Given the description of an element on the screen output the (x, y) to click on. 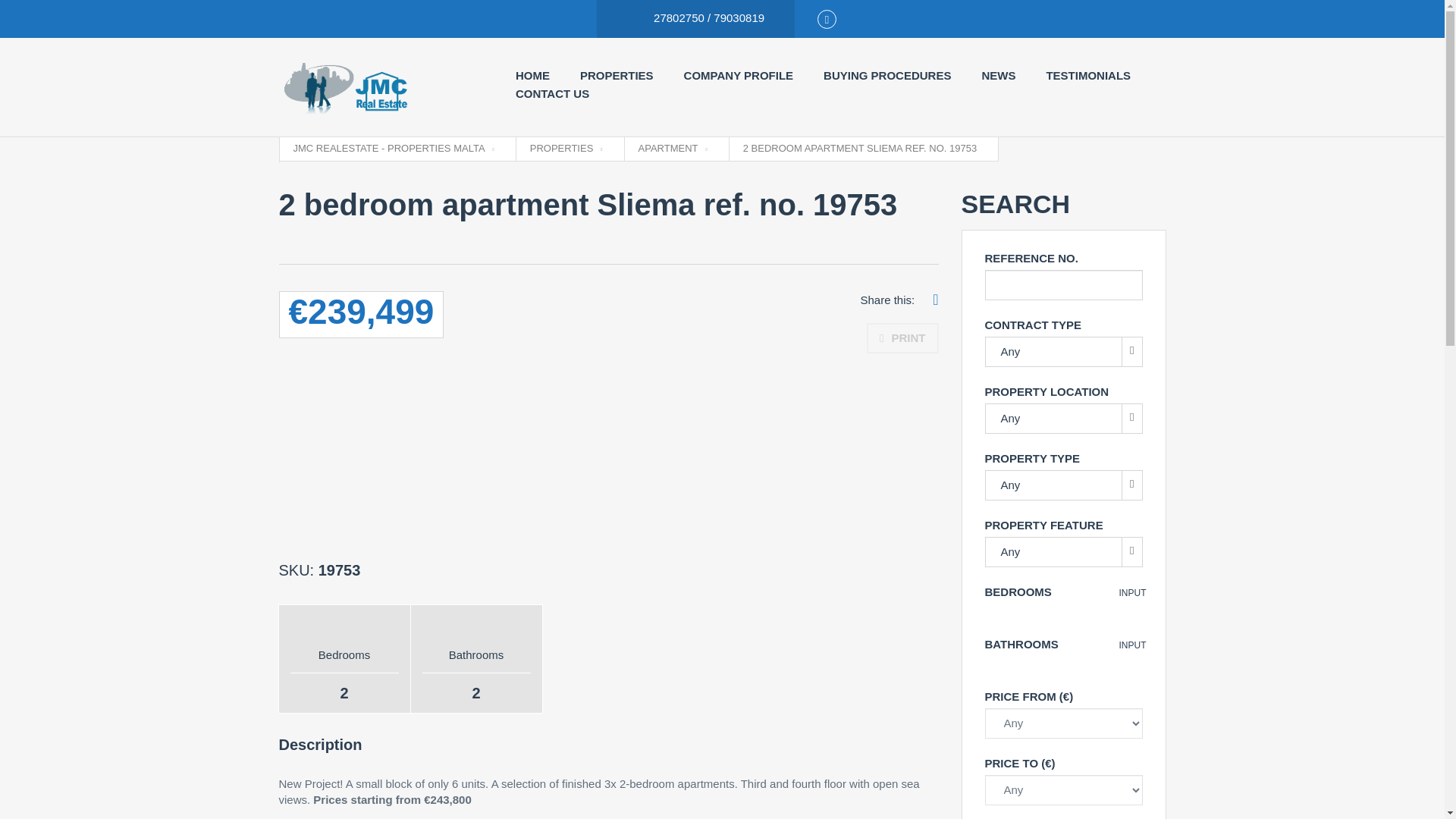
JMC REALESTATE - PROPERTIES MALTA (392, 148)
PROPERTIES (616, 75)
PROPERTIES (565, 148)
Go to the Apartment Property Type archives. (673, 148)
COMPANY PROFILE (738, 75)
Go to JMC Realestate - Properties Malta. (392, 148)
NEWS (997, 75)
JMC Realestate - Properties Malta (381, 86)
APARTMENT (673, 148)
PRINT (901, 337)
Go to Properties. (565, 148)
Any (1062, 351)
HOME (532, 75)
CONTACT US (552, 94)
TESTIMONIALS (1088, 75)
